Given the description of an element on the screen output the (x, y) to click on. 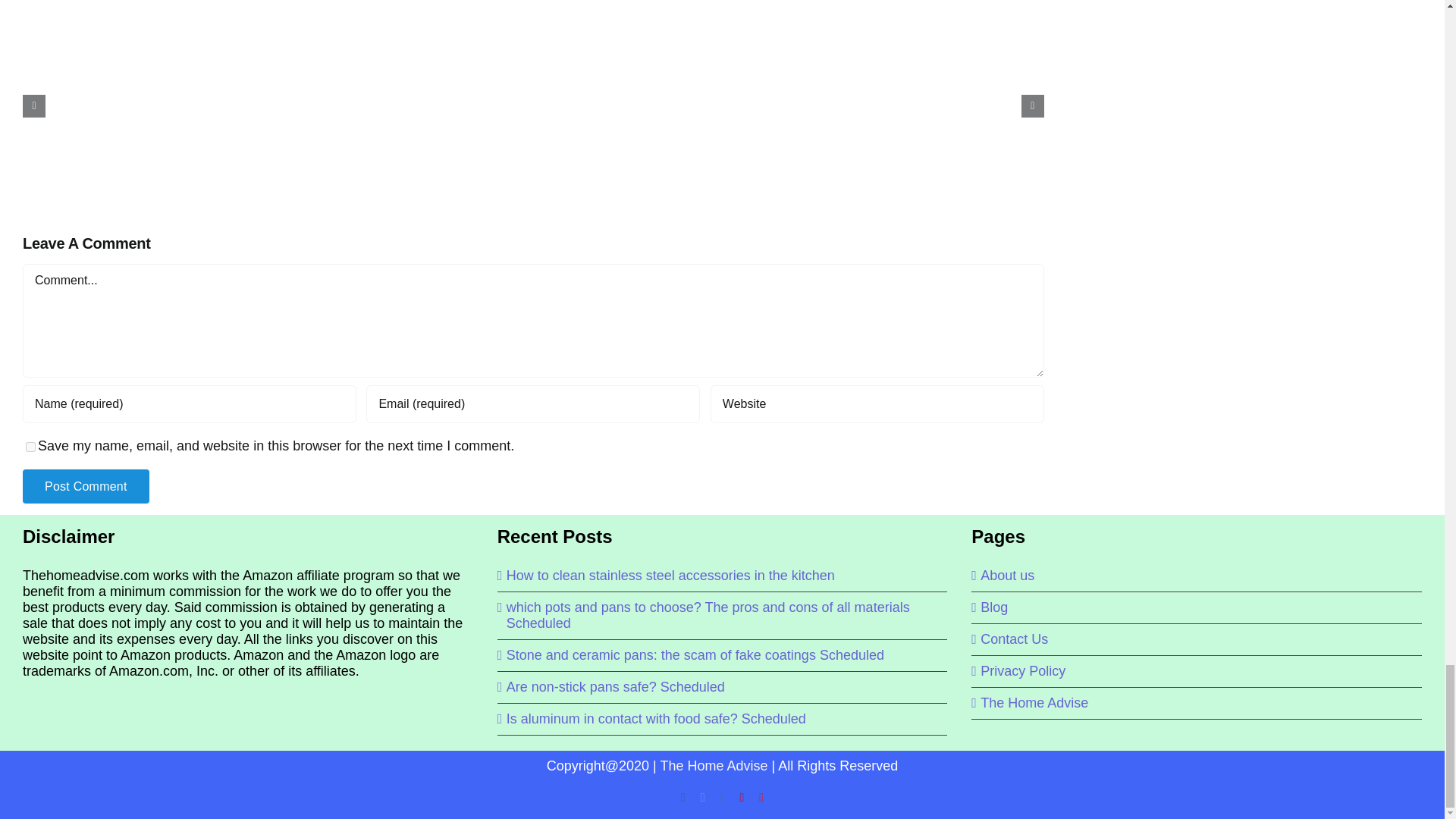
yes (30, 447)
Post Comment (86, 486)
